Given the description of an element on the screen output the (x, y) to click on. 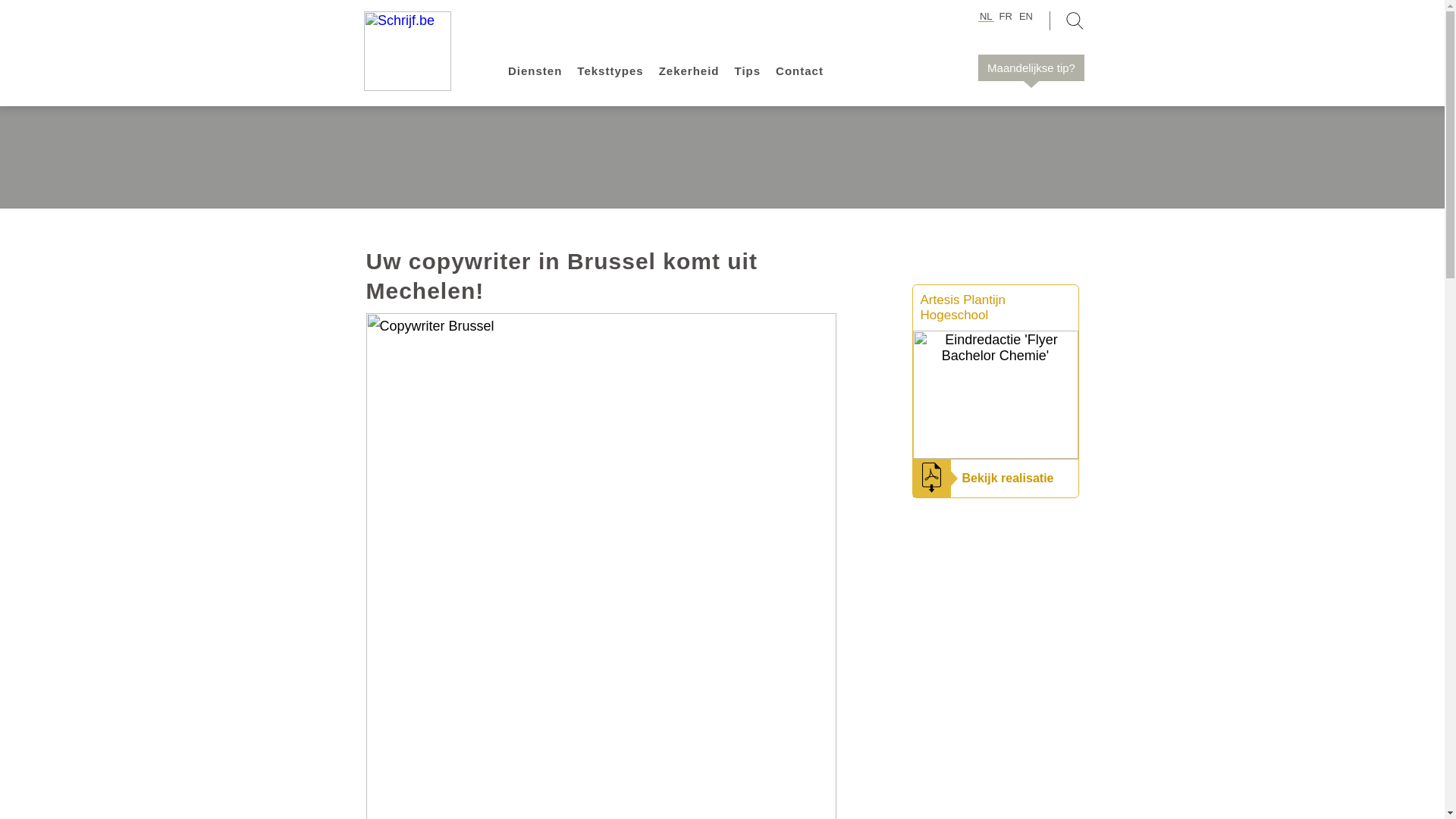
EN Element type: text (1025, 16)
Bekijk realisatie Element type: text (1007, 477)
Diensten Element type: text (534, 71)
Tips Element type: text (748, 71)
NL Element type: text (986, 16)
Artesis Plantijn Hogeschool Element type: text (962, 307)
Abonneer u Element type: text (958, 220)
Teksttypes Element type: text (609, 71)
FR Element type: text (1005, 16)
Zekerheid Element type: text (689, 71)
Contact Element type: text (799, 71)
